Given the description of an element on the screen output the (x, y) to click on. 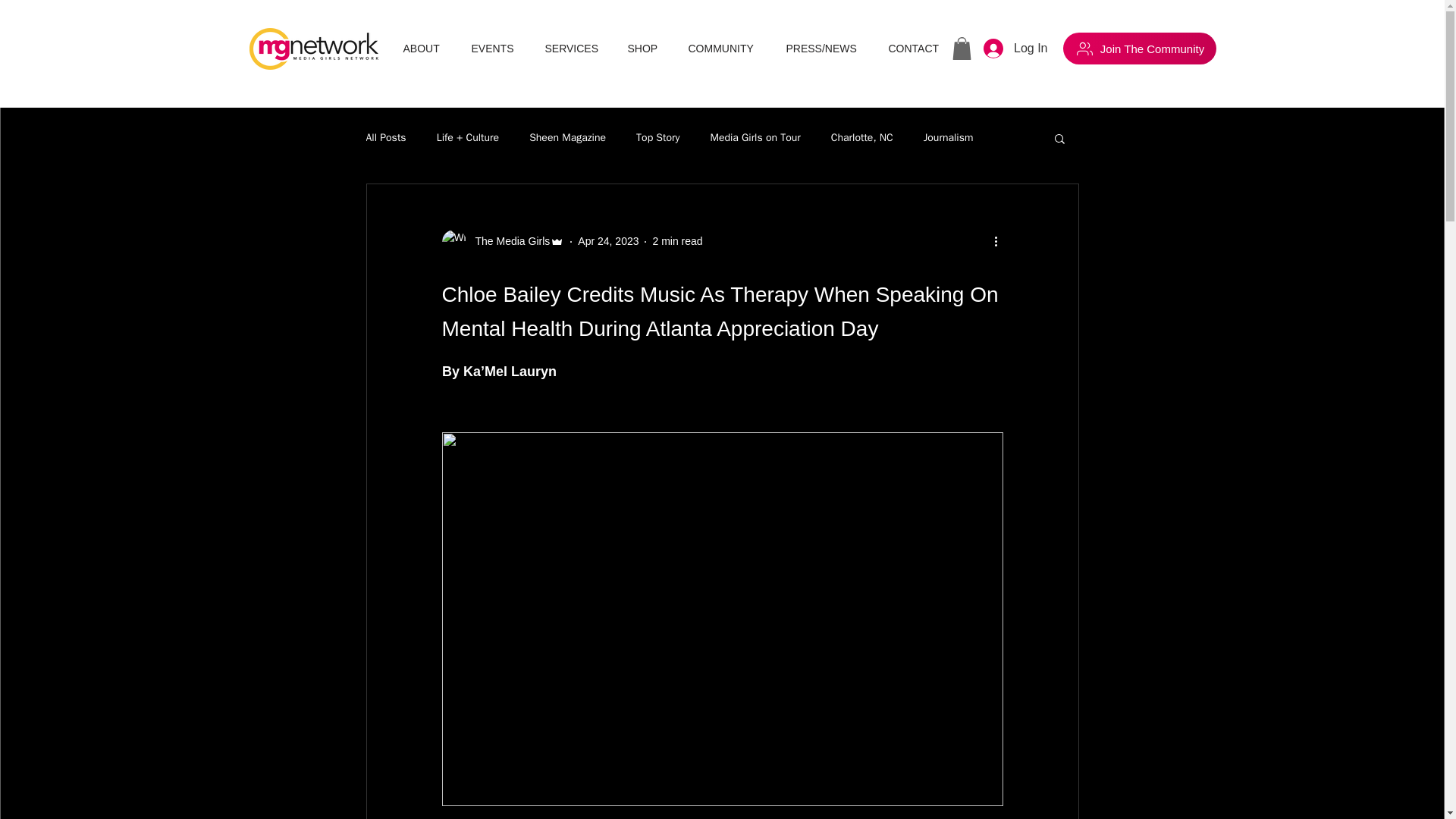
Top Story (657, 137)
2 min read (676, 241)
All Posts (385, 137)
Media Girls on Tour (754, 137)
Charlotte, NC (862, 137)
Sheen Magazine (567, 137)
Apr 24, 2023 (608, 241)
The Media Girls (507, 241)
Journalism (948, 137)
SERVICES (574, 48)
